Given the description of an element on the screen output the (x, y) to click on. 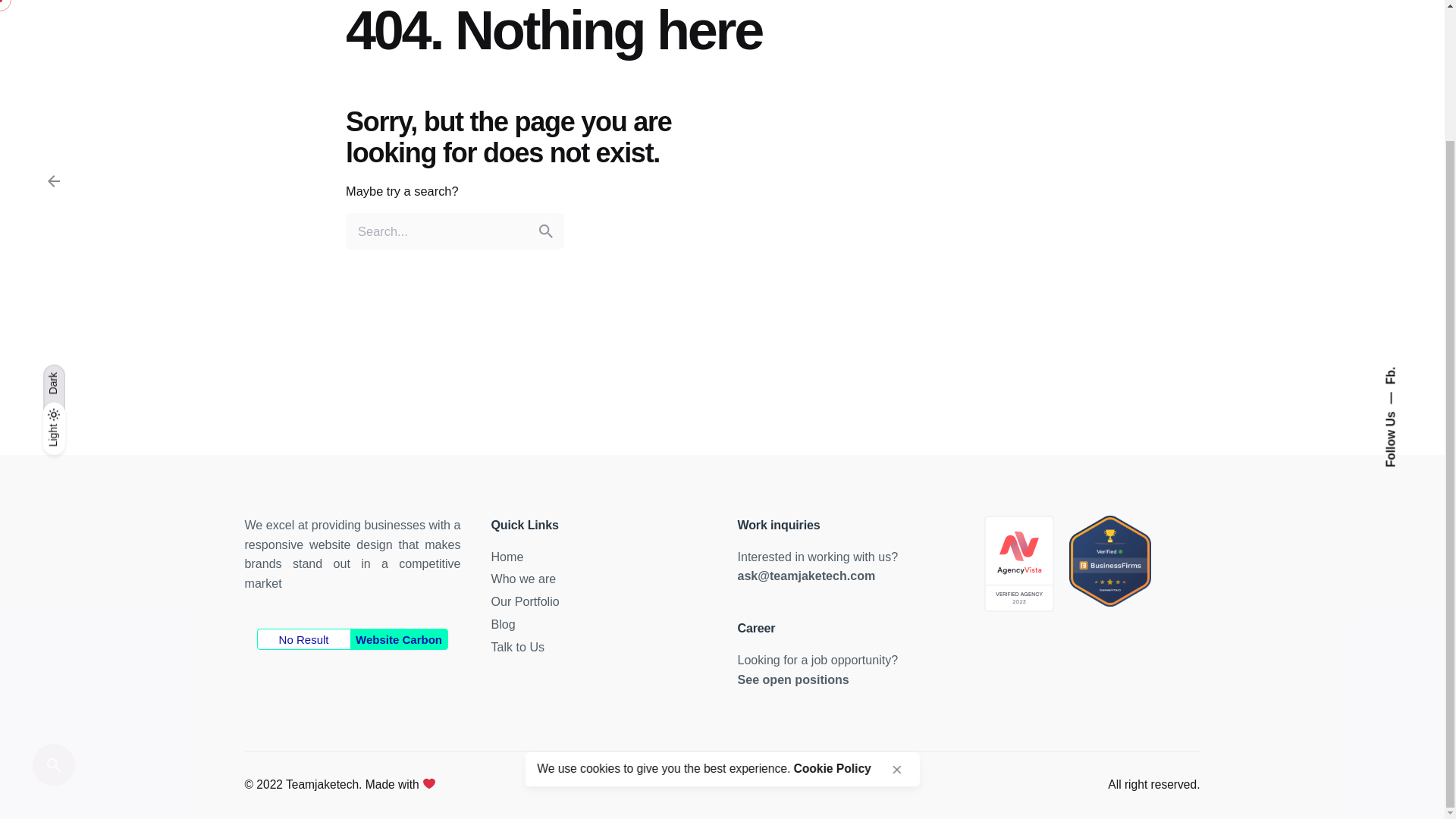
Our Portfolio (525, 601)
Fb. (1392, 214)
Who we are (524, 578)
Website Carbon (399, 639)
Blog (503, 623)
See open positions (792, 679)
Talk to Us (518, 646)
Home (508, 556)
